Given the description of an element on the screen output the (x, y) to click on. 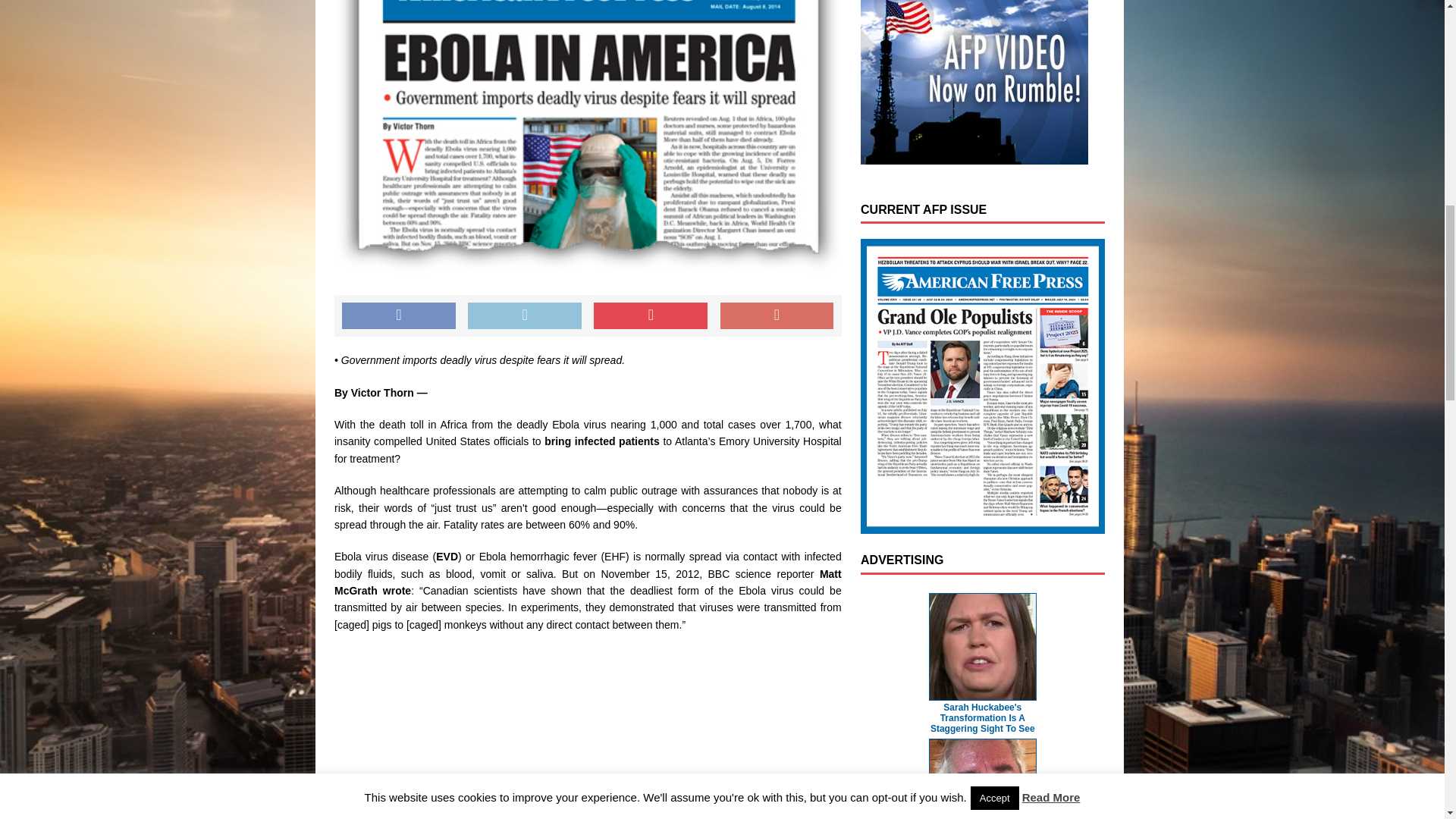
Pin This Post (650, 316)
Tweet This Post (523, 316)
Share on Facebook (398, 316)
